Given the description of an element on the screen output the (x, y) to click on. 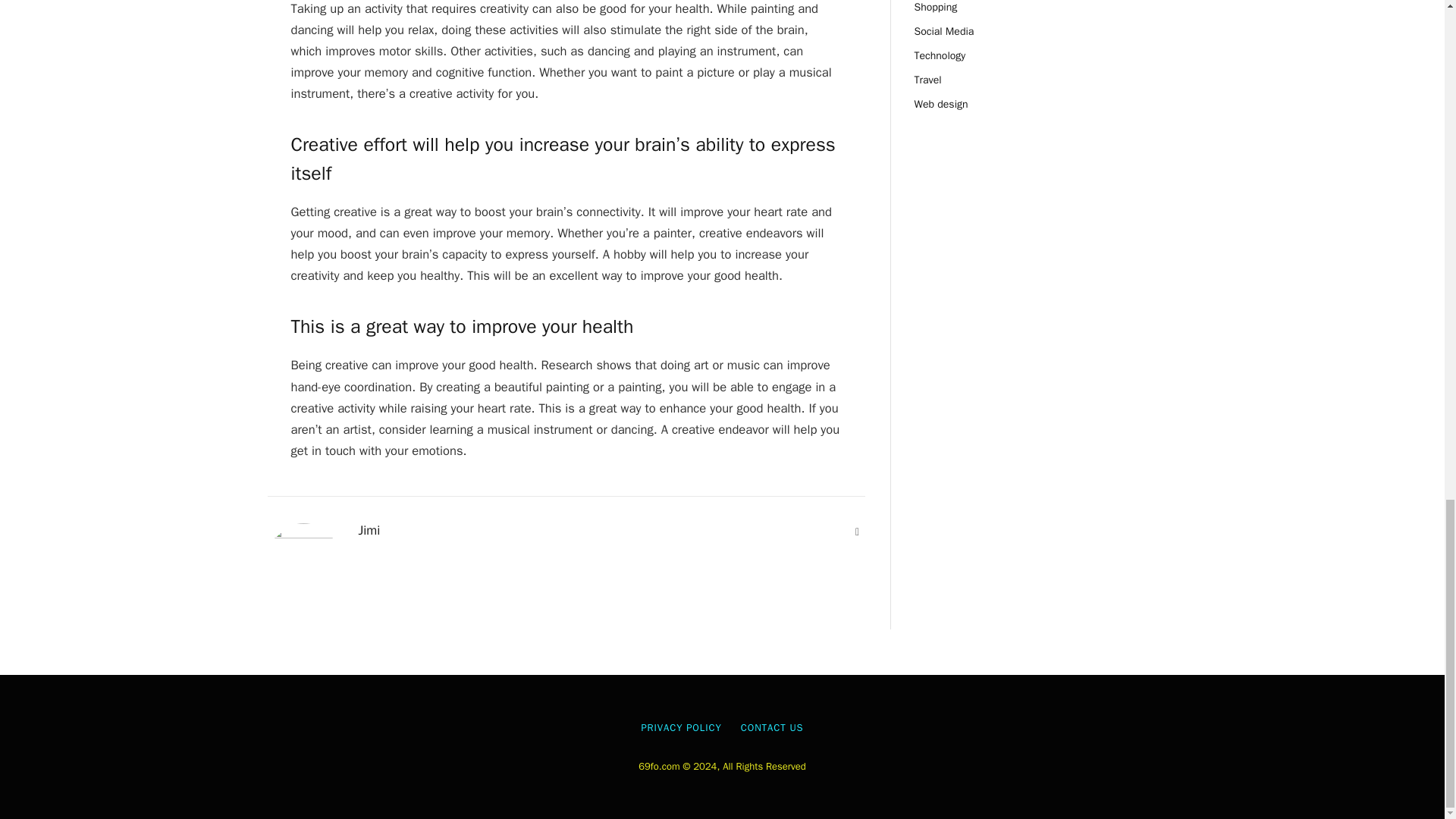
Posts by Jimi (369, 530)
Jimi (369, 530)
Website (856, 531)
Website (856, 531)
